Given the description of an element on the screen output the (x, y) to click on. 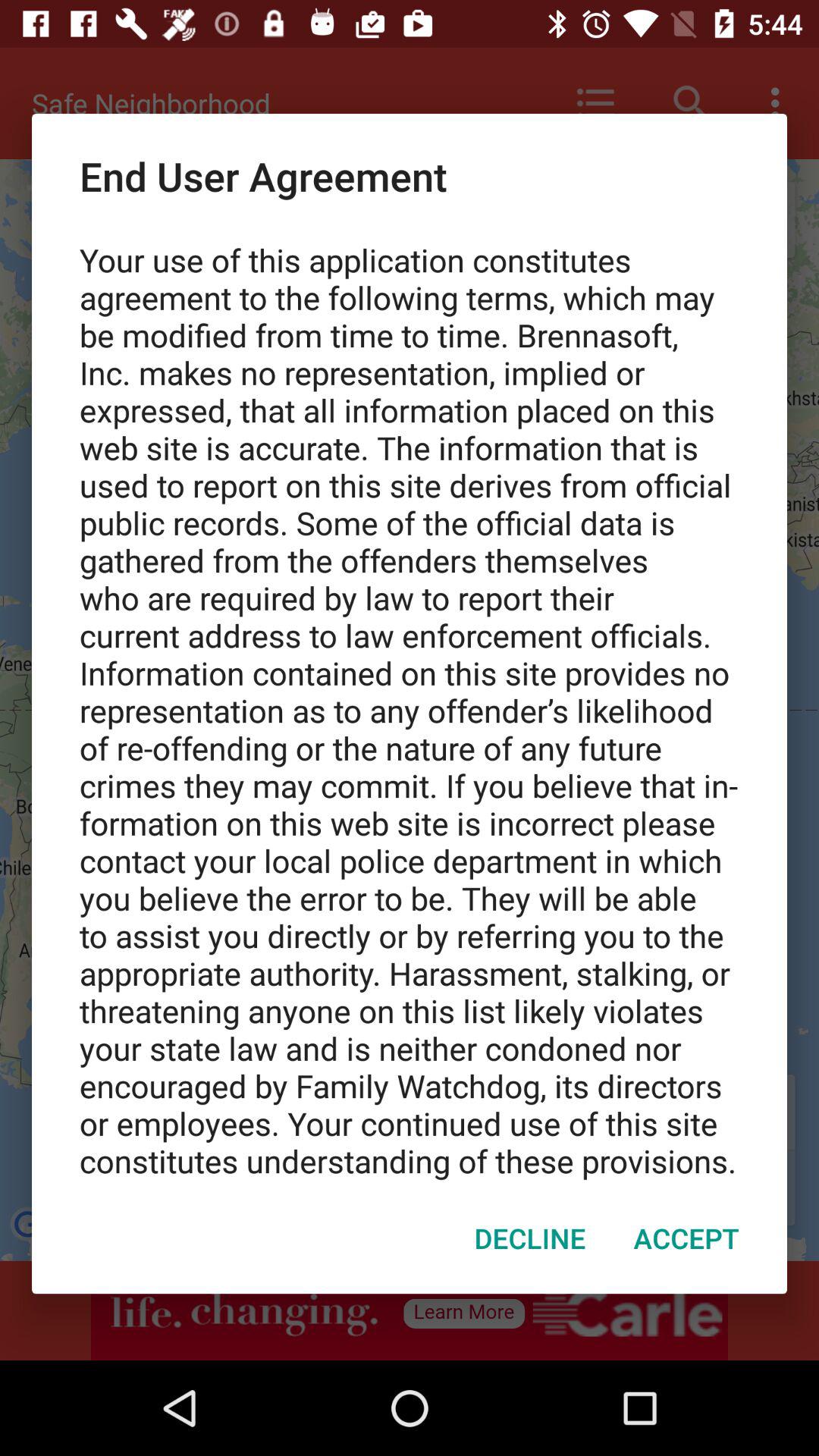
tap icon at the bottom right corner (686, 1237)
